Given the description of an element on the screen output the (x, y) to click on. 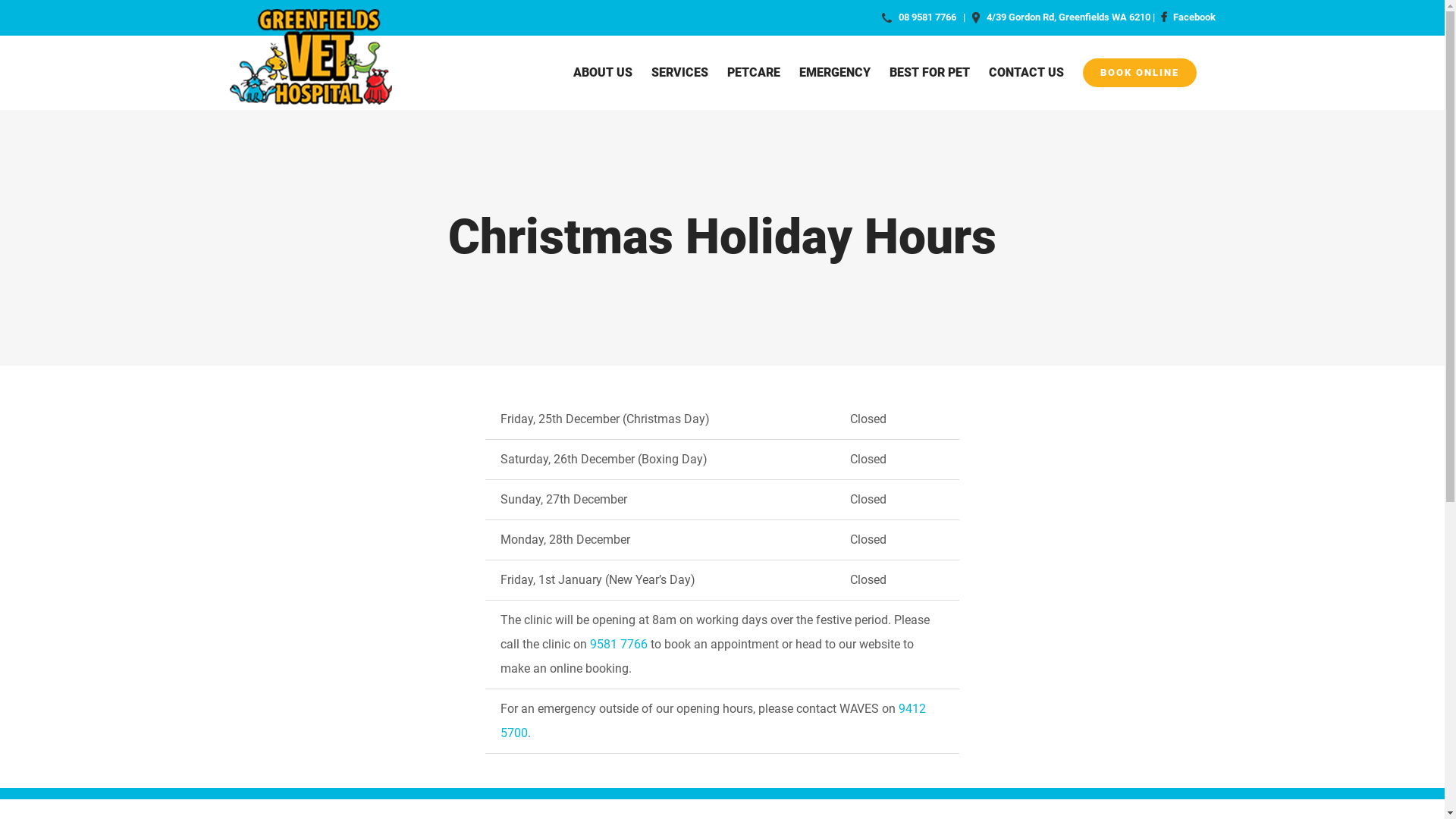
CONTACT US Element type: text (1025, 72)
SERVICES Element type: text (678, 72)
9581 7766 Element type: text (618, 644)
EMERGENCY Element type: text (834, 72)
Facebook Element type: text (1186, 16)
BEST FOR PET Element type: text (928, 72)
PETCARE Element type: text (752, 72)
ABOUT US Element type: text (602, 72)
9412 5700 Element type: text (712, 720)
08 9581 7766 Element type: text (926, 16)
BOOK ONLINE Element type: text (1139, 72)
